Given the description of an element on the screen output the (x, y) to click on. 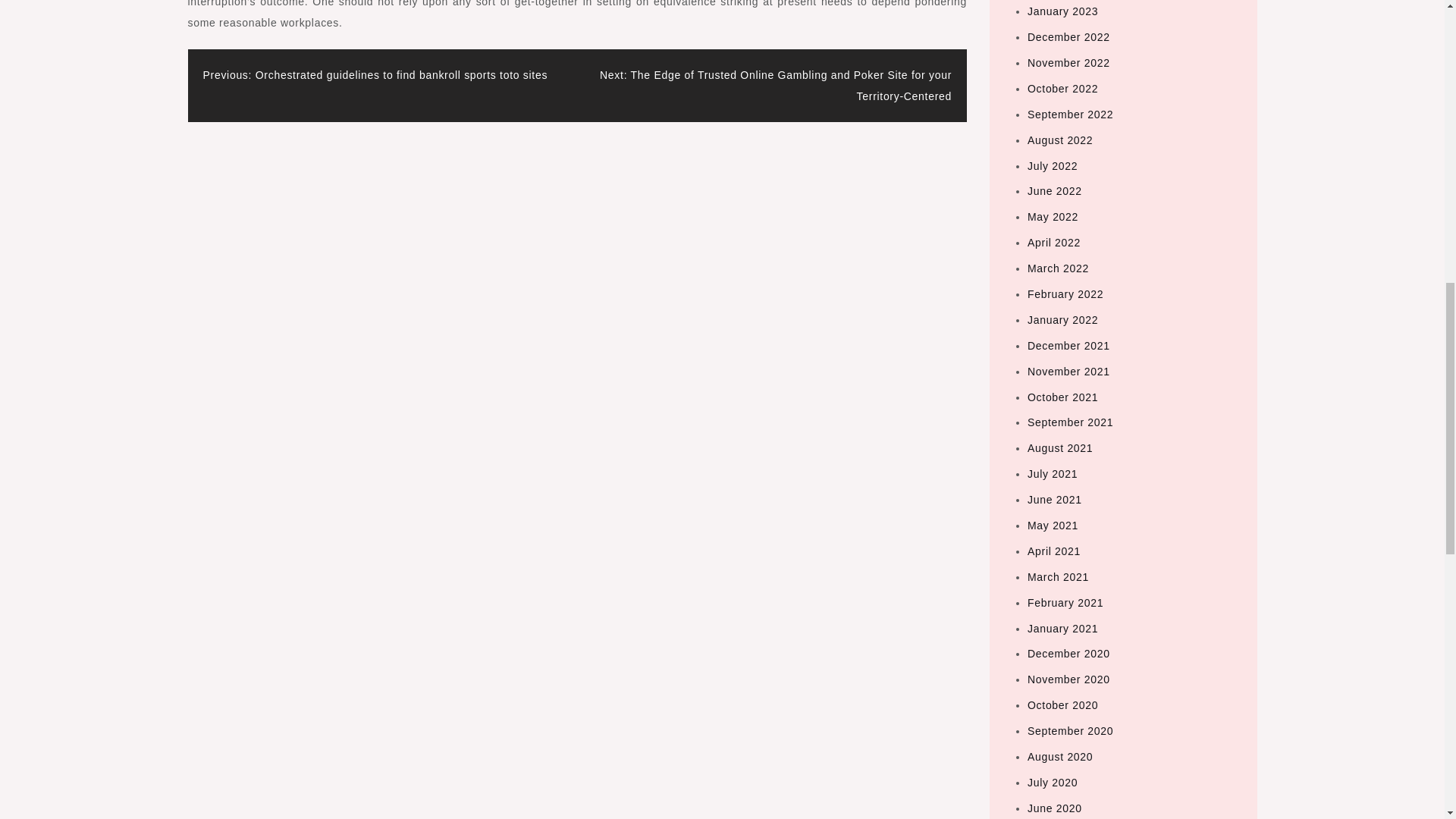
December 2022 (1068, 37)
October 2021 (1062, 397)
September 2022 (1070, 114)
September 2021 (1070, 422)
March 2022 (1058, 268)
November 2021 (1068, 371)
June 2022 (1054, 191)
May 2022 (1052, 216)
February 2022 (1065, 294)
December 2021 (1068, 345)
